Given the description of an element on the screen output the (x, y) to click on. 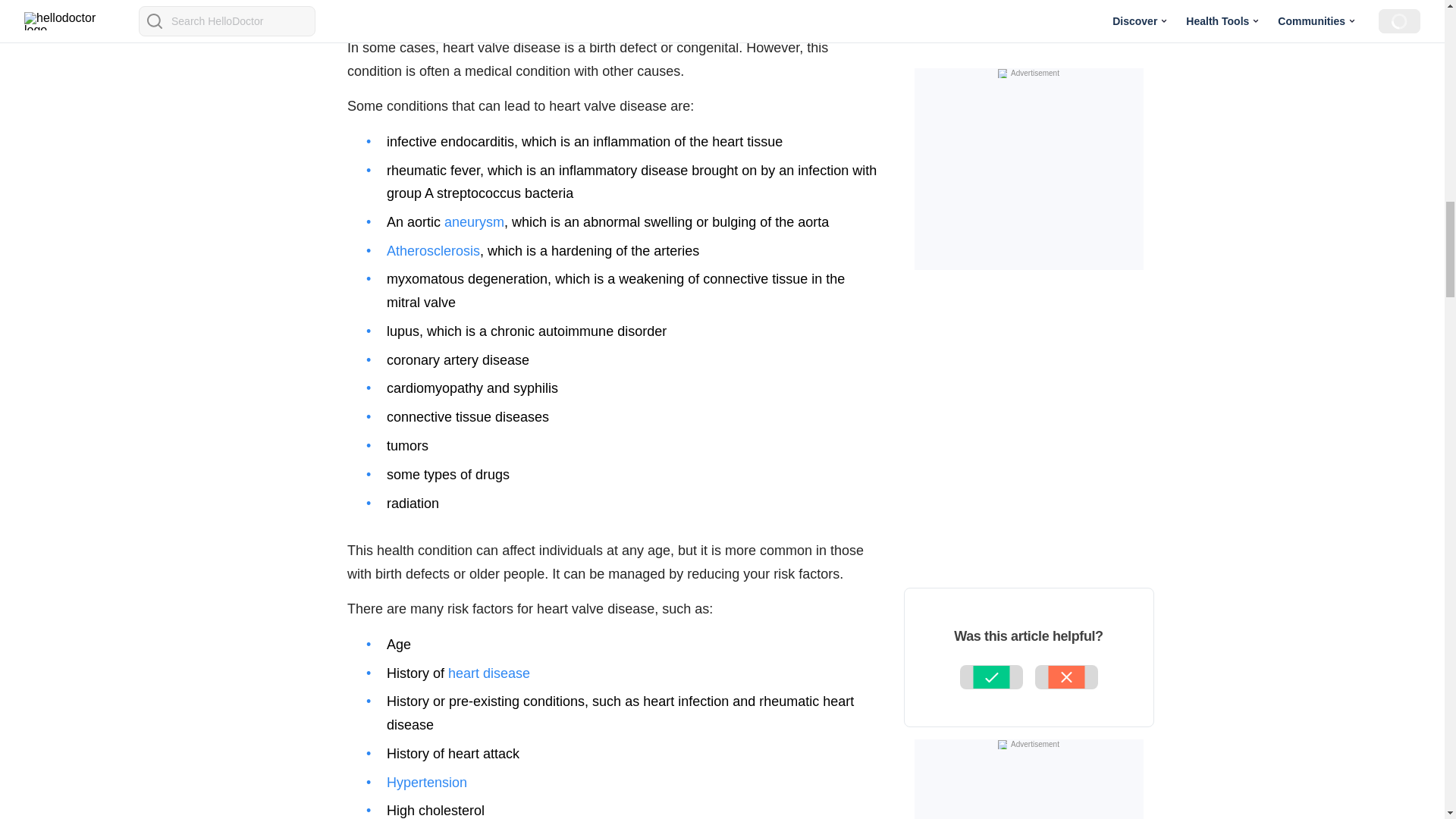
The Types of Aneurysm and Their Causes (473, 222)
All You Need To Know About Atherosclerosis (433, 250)
